Given the description of an element on the screen output the (x, y) to click on. 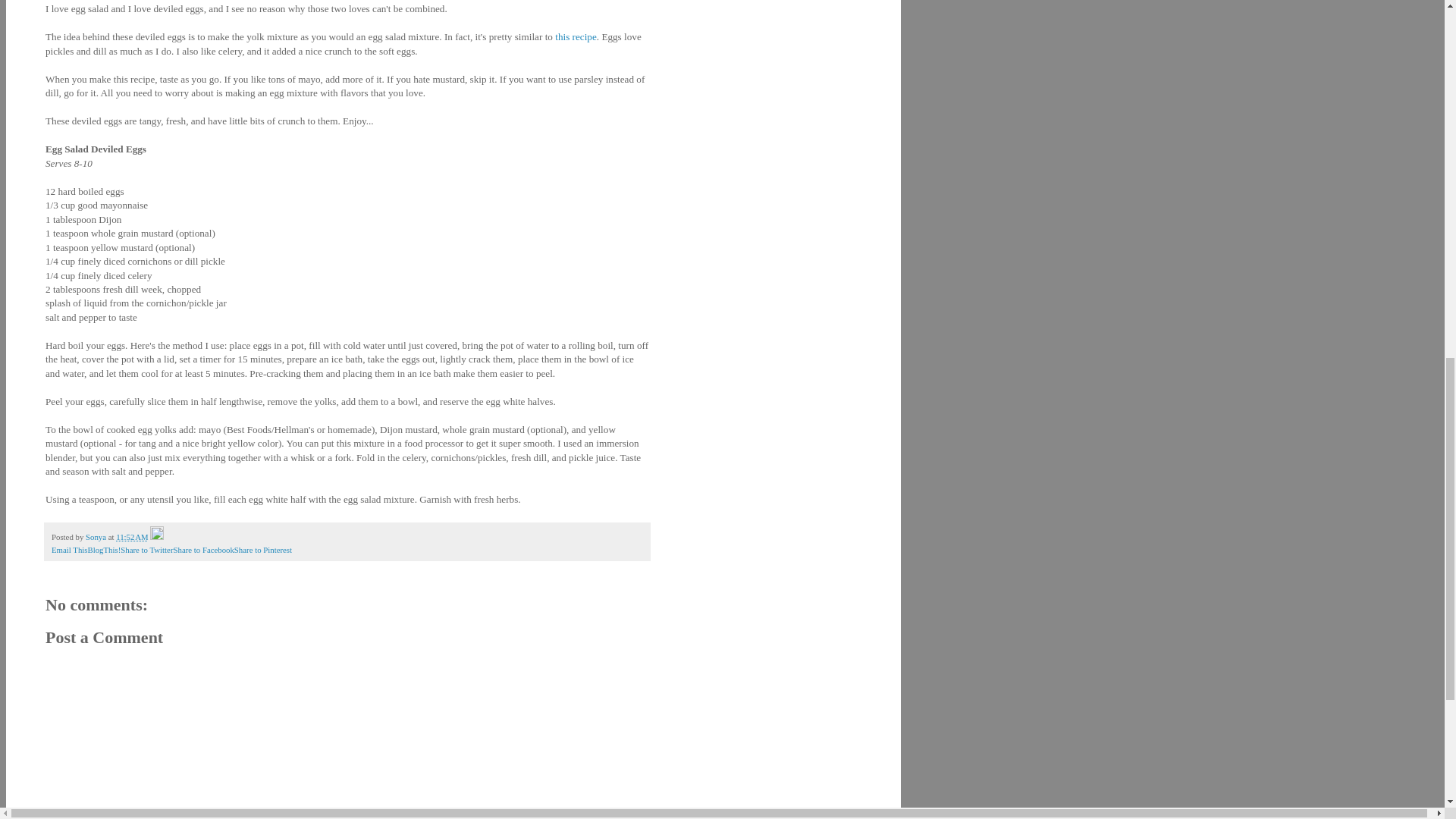
Share to Facebook (202, 549)
this recipe (575, 36)
Share to Pinterest (263, 549)
Share to Facebook (202, 549)
Share to Twitter (146, 549)
Share to Pinterest (263, 549)
Email This (68, 549)
Share to Twitter (146, 549)
BlogThis! (103, 549)
author profile (96, 536)
